Given the description of an element on the screen output the (x, y) to click on. 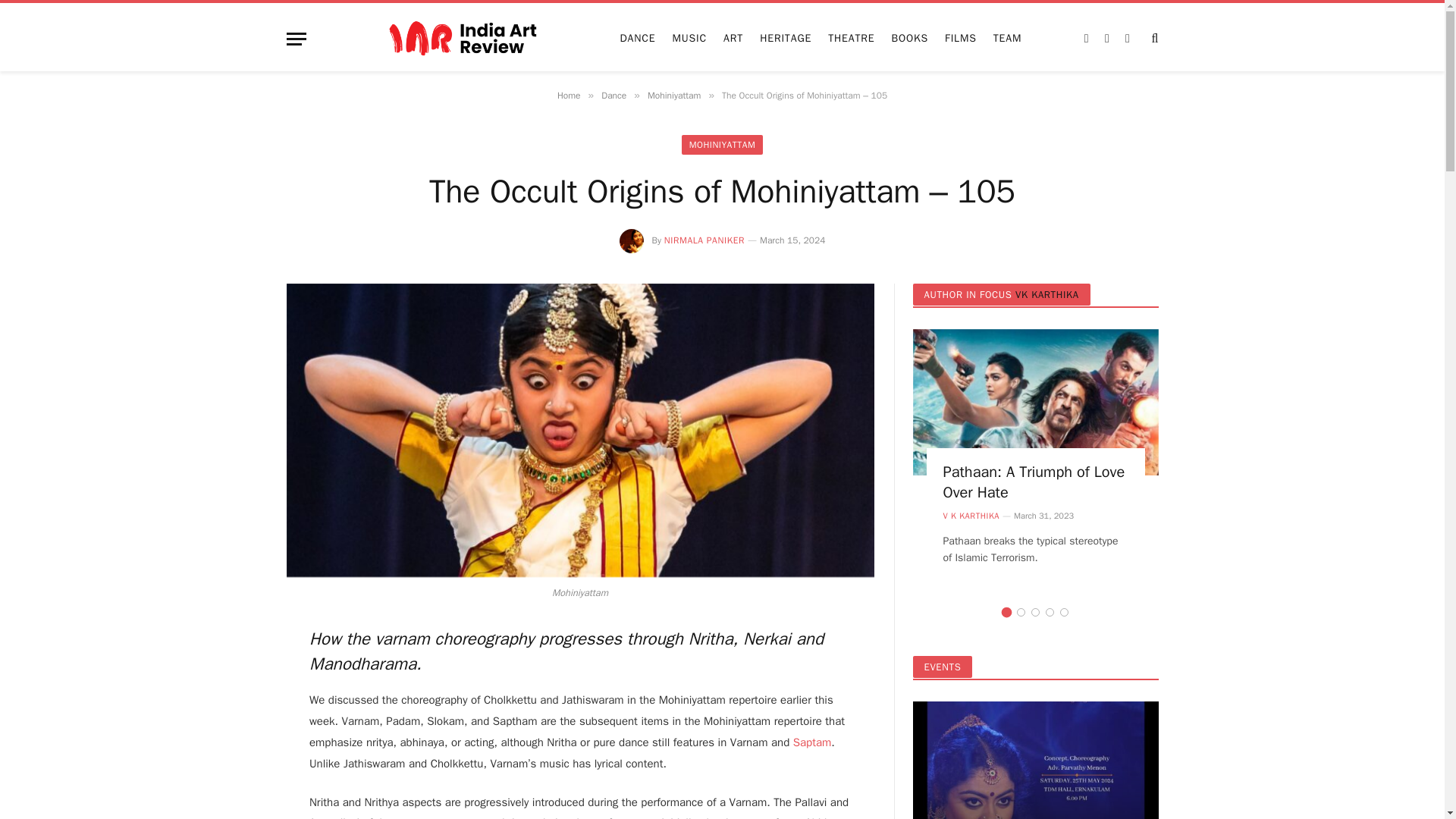
Home (568, 95)
Dance (613, 95)
Posts by Nirmala Paniker (703, 240)
HERITAGE (785, 38)
Saptam (812, 742)
MOHINIYATTAM (721, 144)
India Art Review (462, 38)
NIRMALA PANIKER (703, 240)
Mohiniyattam (673, 95)
